Given the description of an element on the screen output the (x, y) to click on. 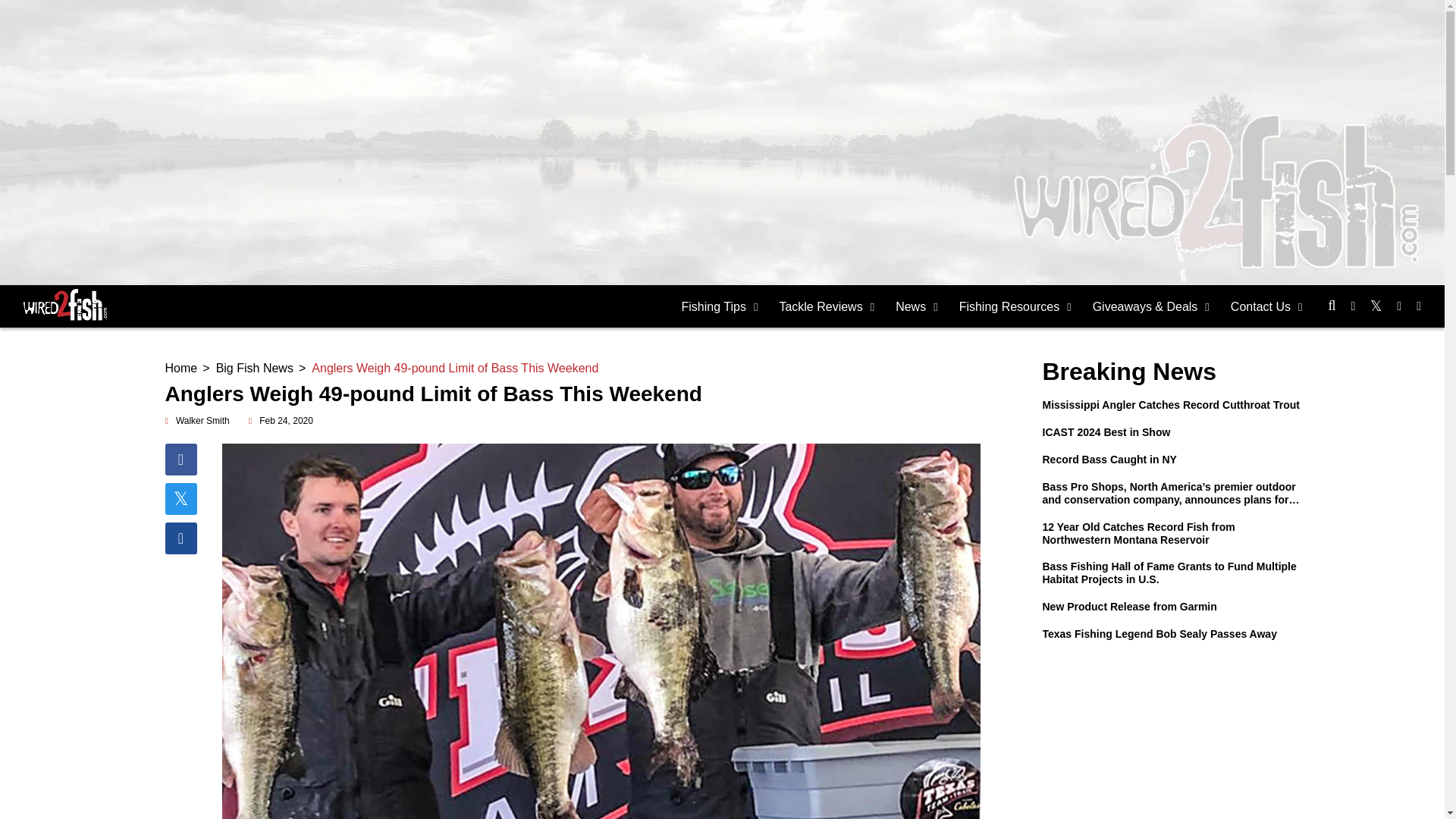
Fishing Tips (719, 306)
